Given the description of an element on the screen output the (x, y) to click on. 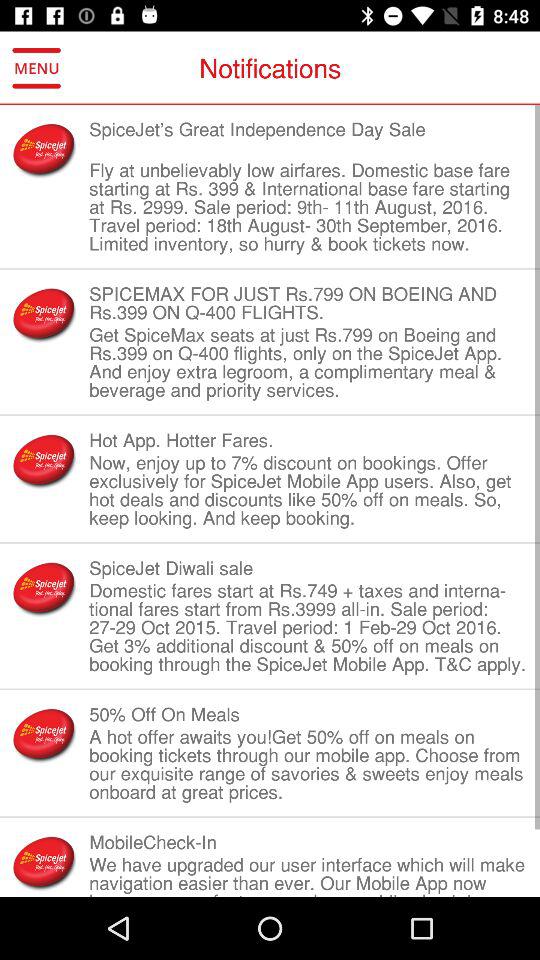
select icon to the left of the spicejet diwali sale icon (44, 587)
